Given the description of an element on the screen output the (x, y) to click on. 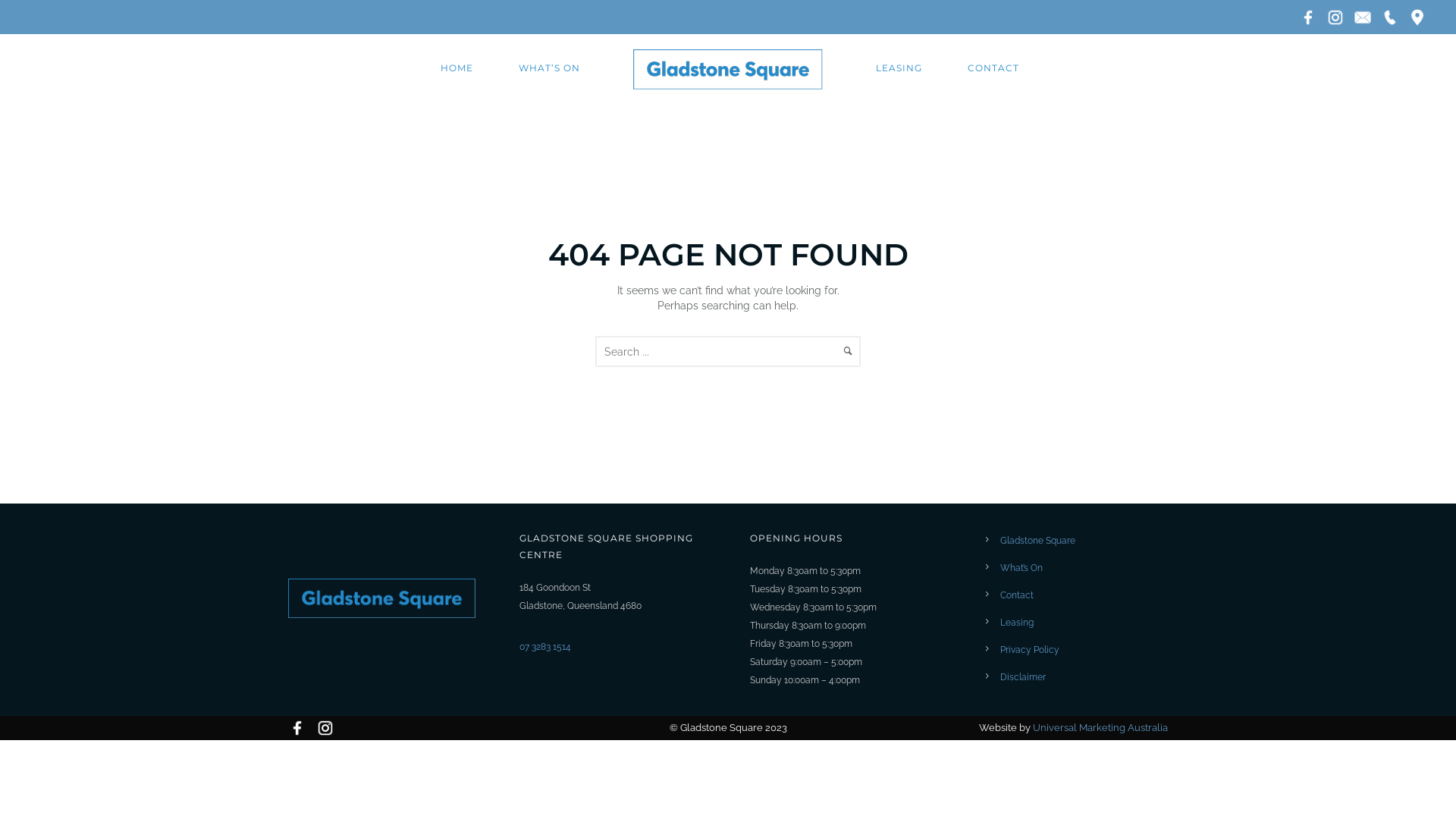
CONTACT Element type: text (992, 67)
HOME Element type: text (456, 67)
Leasing Element type: text (1015, 622)
07 3283 1514 Element type: text (544, 646)
Universal Marketing Australia Element type: text (1099, 727)
Gladstone Square Element type: text (1036, 540)
LEASING Element type: text (898, 67)
Privacy Policy Element type: text (1028, 649)
Contact Element type: text (1015, 594)
Disclaimer Element type: text (1021, 676)
